Given the description of an element on the screen output the (x, y) to click on. 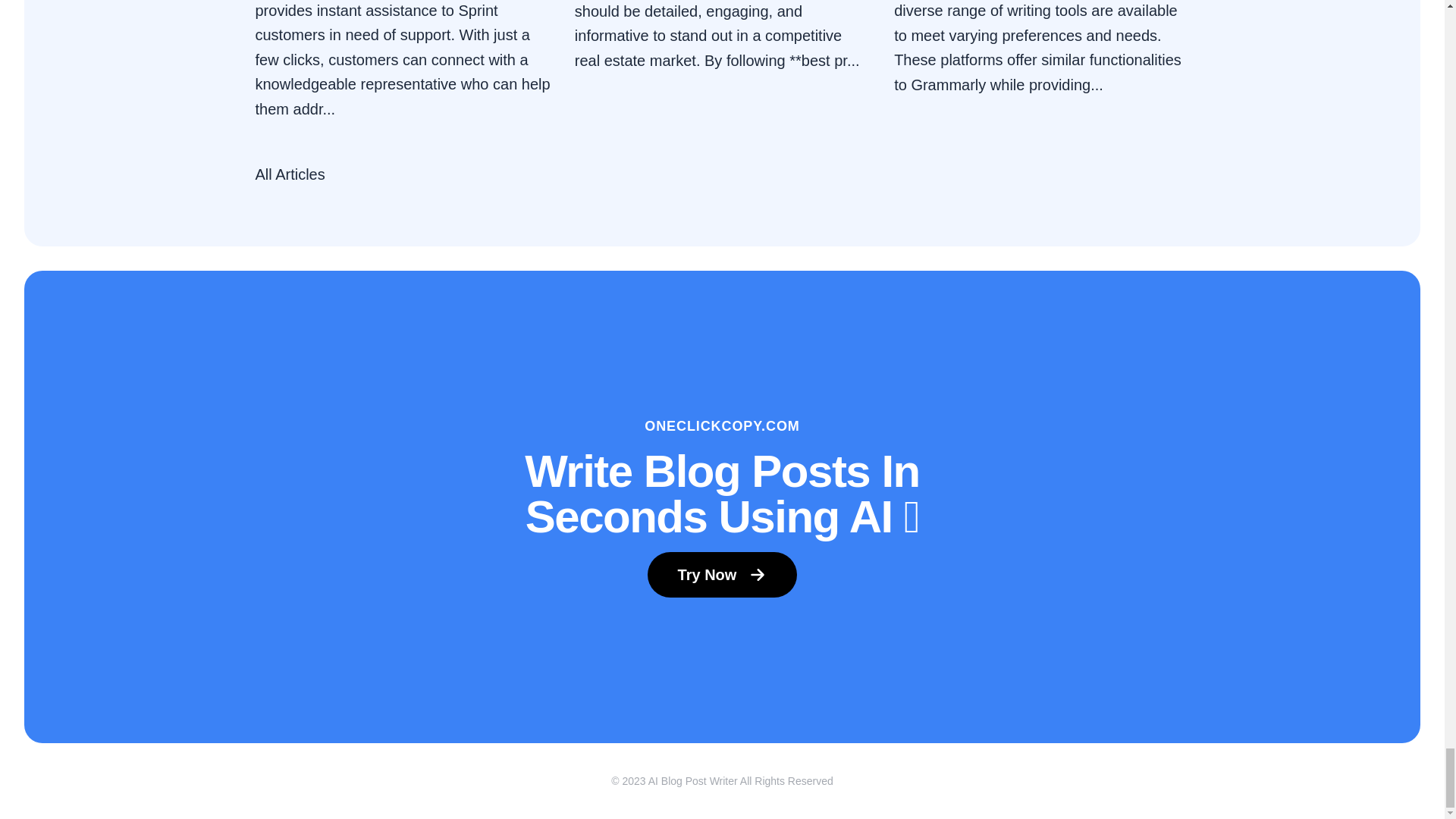
Try Now (722, 574)
All Articles (289, 174)
